Given the description of an element on the screen output the (x, y) to click on. 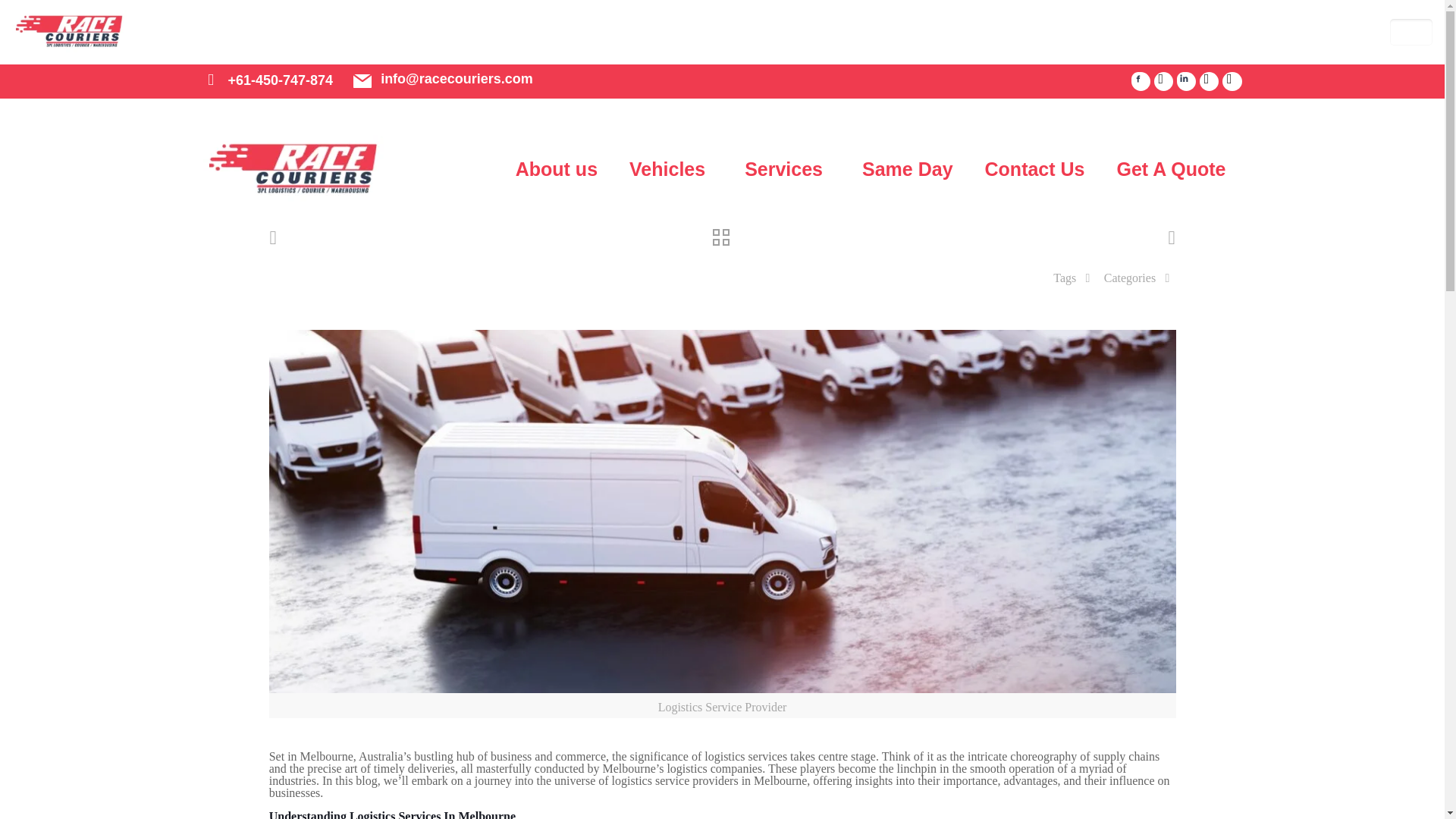
Get A Quote (1170, 169)
Same Day (907, 169)
Contact Us (1034, 169)
Services (787, 169)
Vehicles (670, 169)
About us (555, 169)
